Given the description of an element on the screen output the (x, y) to click on. 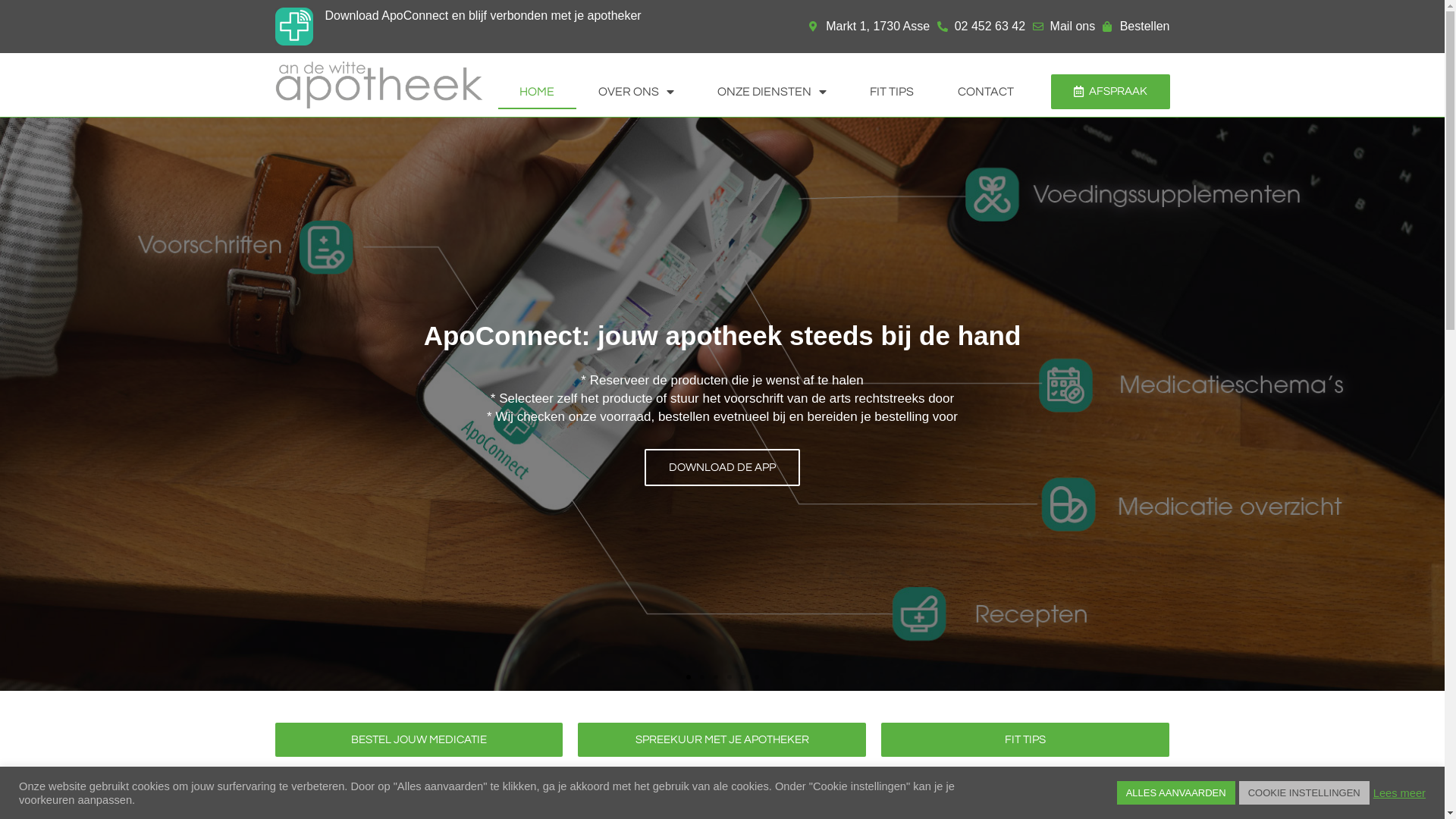
Markt 1, 1730 Asse Element type: text (869, 26)
ONZE DIENSTEN Element type: text (771, 91)
Lees meer Element type: text (1399, 792)
Mail ons Element type: text (1063, 26)
Bestellen Element type: text (1135, 26)
FIT TIPS Element type: text (1025, 739)
02 452 63 42 Element type: text (981, 26)
Download ApoConnect en blijf verbonden met je apotheker Element type: text (482, 15)
ALLES AANVAARDEN Element type: text (1176, 792)
OVER ONS Element type: text (635, 91)
SPREEKUUR MET JE APOTHEKER Element type: text (721, 739)
HOME Element type: text (537, 91)
AFSPRAAK Element type: text (1110, 91)
ApotheekDeWitte_Apoconnect Element type: hover (293, 26)
DOWNLOAD DE APP Element type: text (722, 467)
FIT TIPS Element type: text (891, 91)
COOKIE INSTELLINGEN Element type: text (1304, 792)
BESTEL JOUW MEDICATIE Element type: text (418, 739)
CONTACT Element type: text (985, 91)
